Given the description of an element on the screen output the (x, y) to click on. 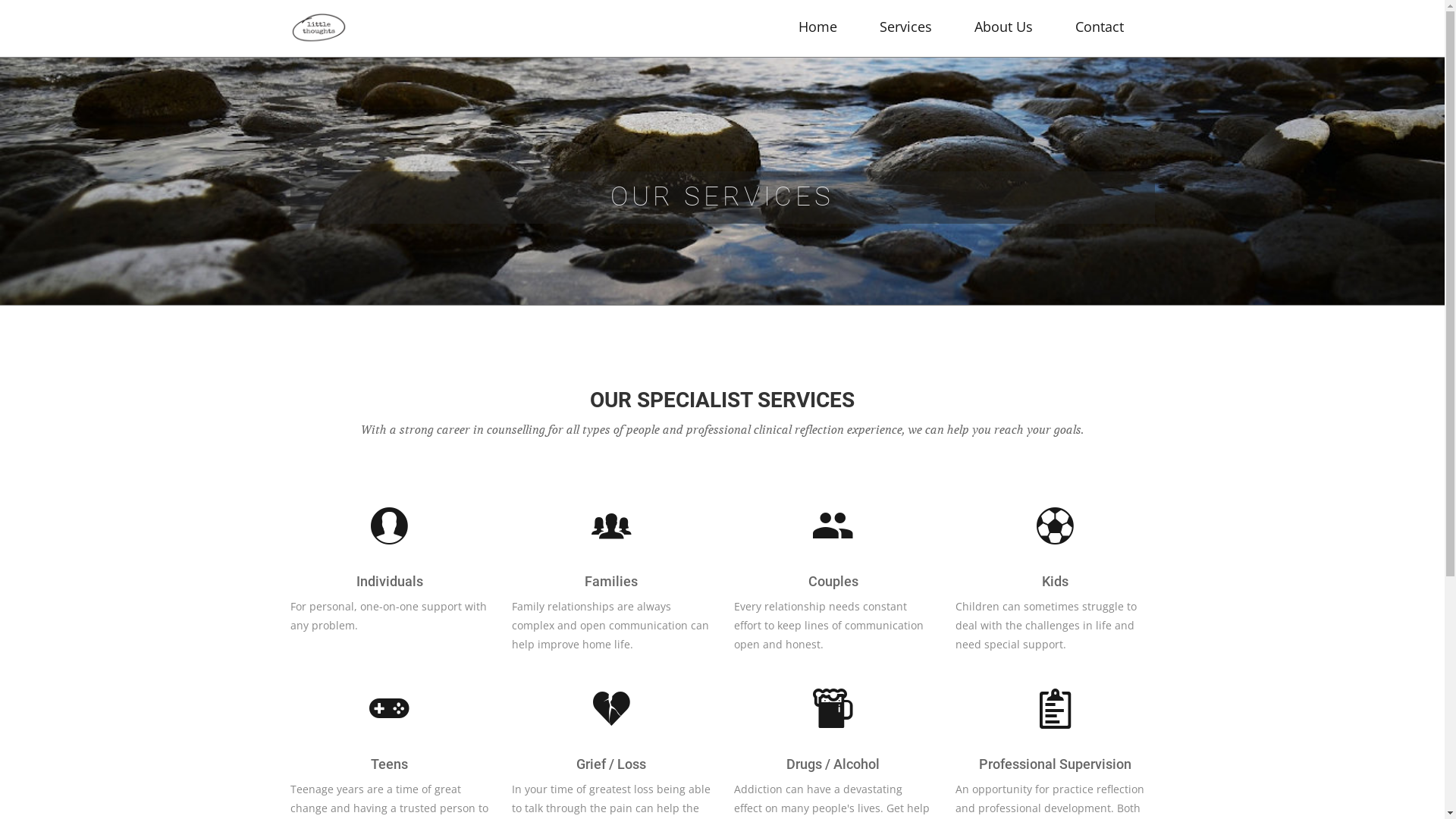
About Us Element type: text (1002, 26)
Contact Element type: text (1099, 26)
Home Element type: text (817, 26)
Services Element type: text (905, 26)
